Given the description of an element on the screen output the (x, y) to click on. 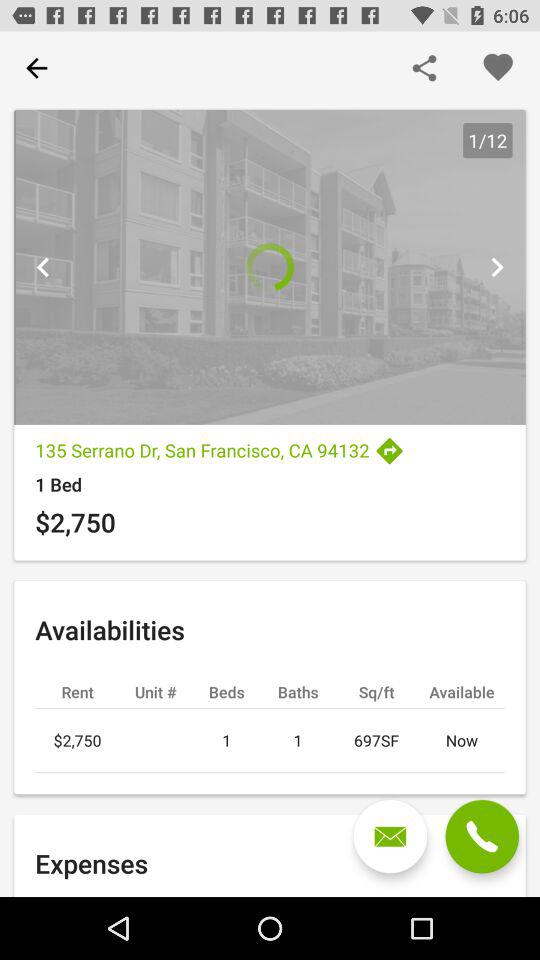
next (496, 267)
